Given the description of an element on the screen output the (x, y) to click on. 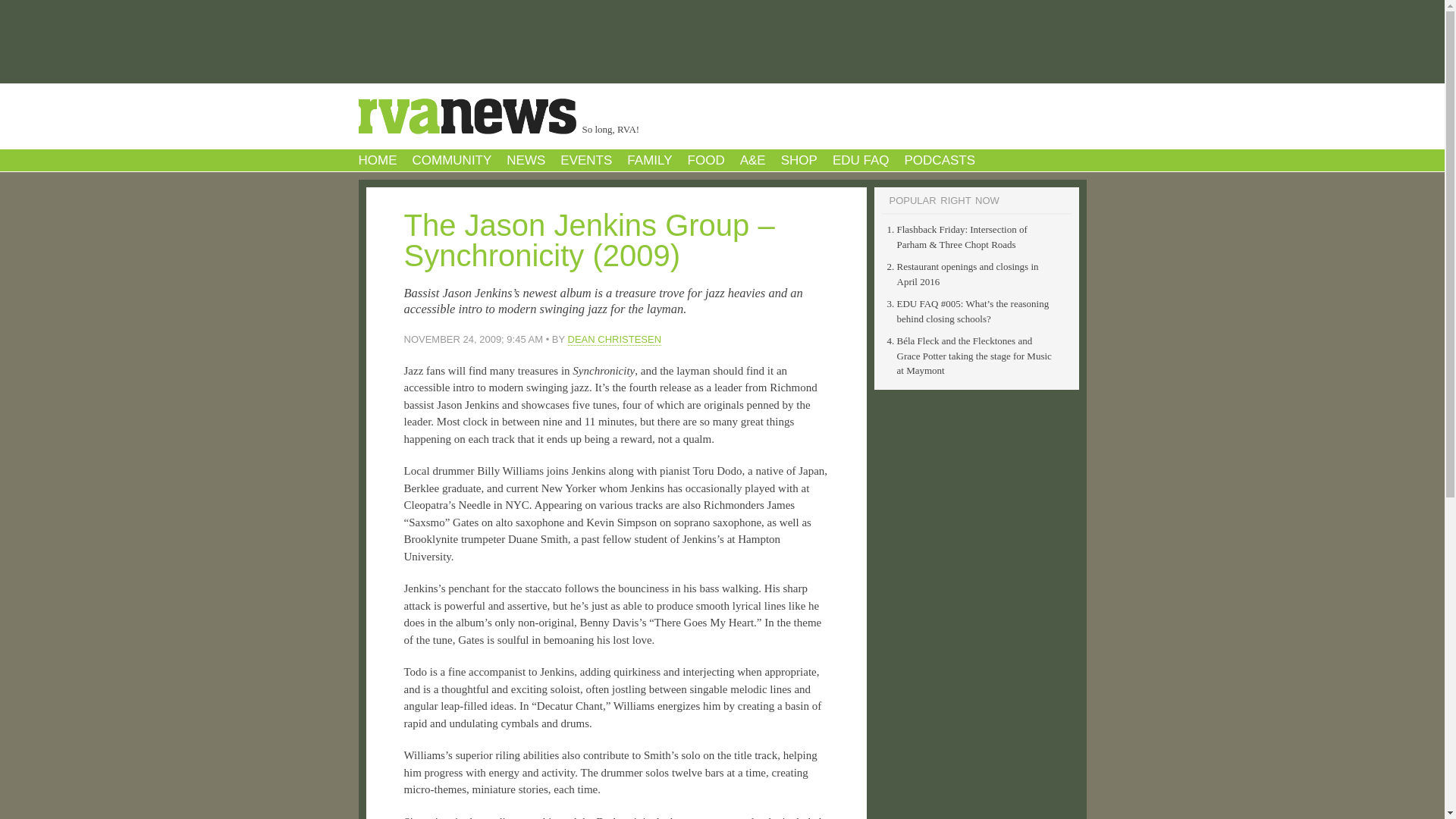
NEWS (525, 160)
COMMUNITY (452, 160)
HOME (377, 160)
EVENTS (585, 160)
